Given the description of an element on the screen output the (x, y) to click on. 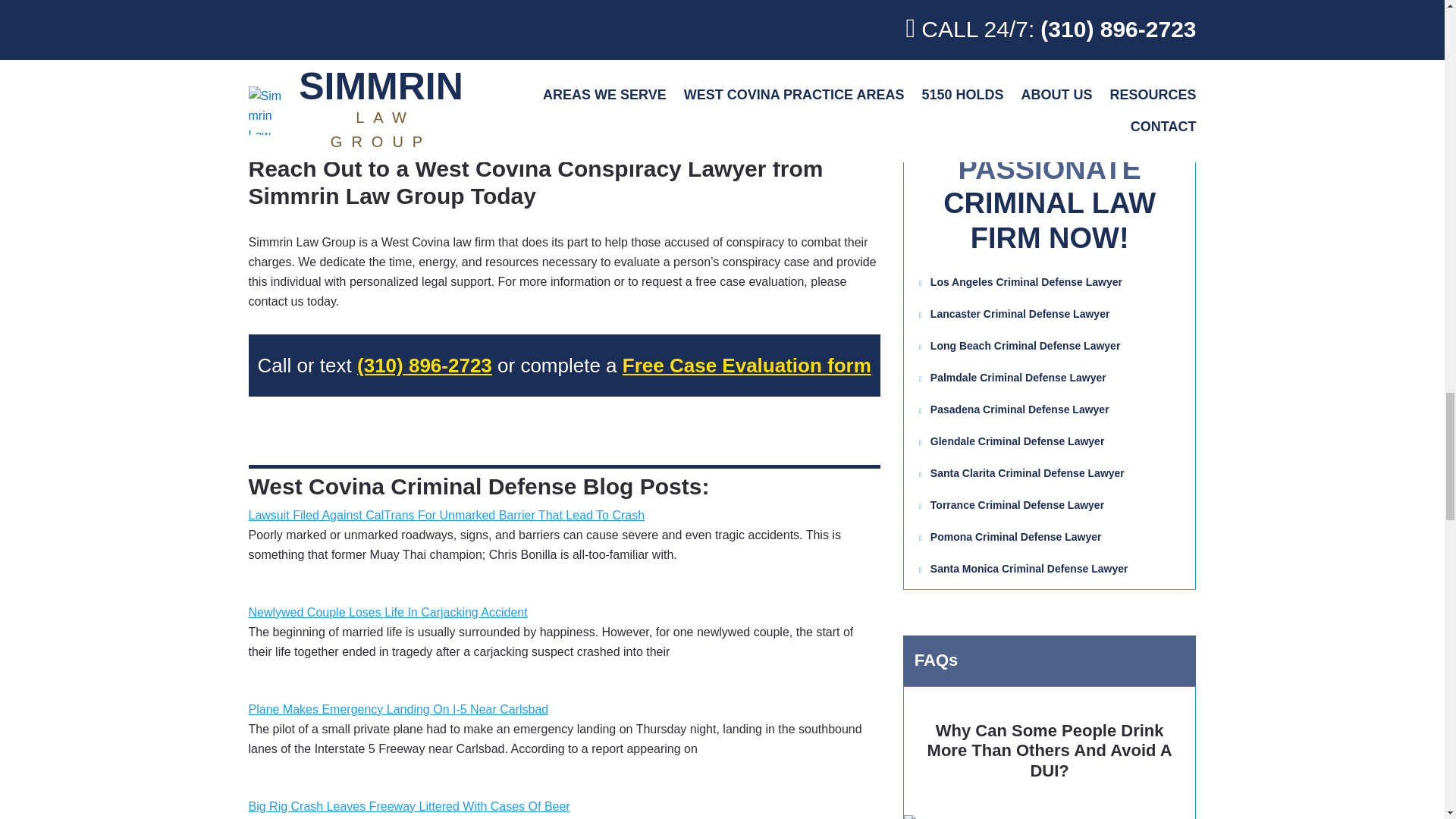
Why Can Some People Drink More Than Others And Avoid A DUI? (1049, 753)
